Given the description of an element on the screen output the (x, y) to click on. 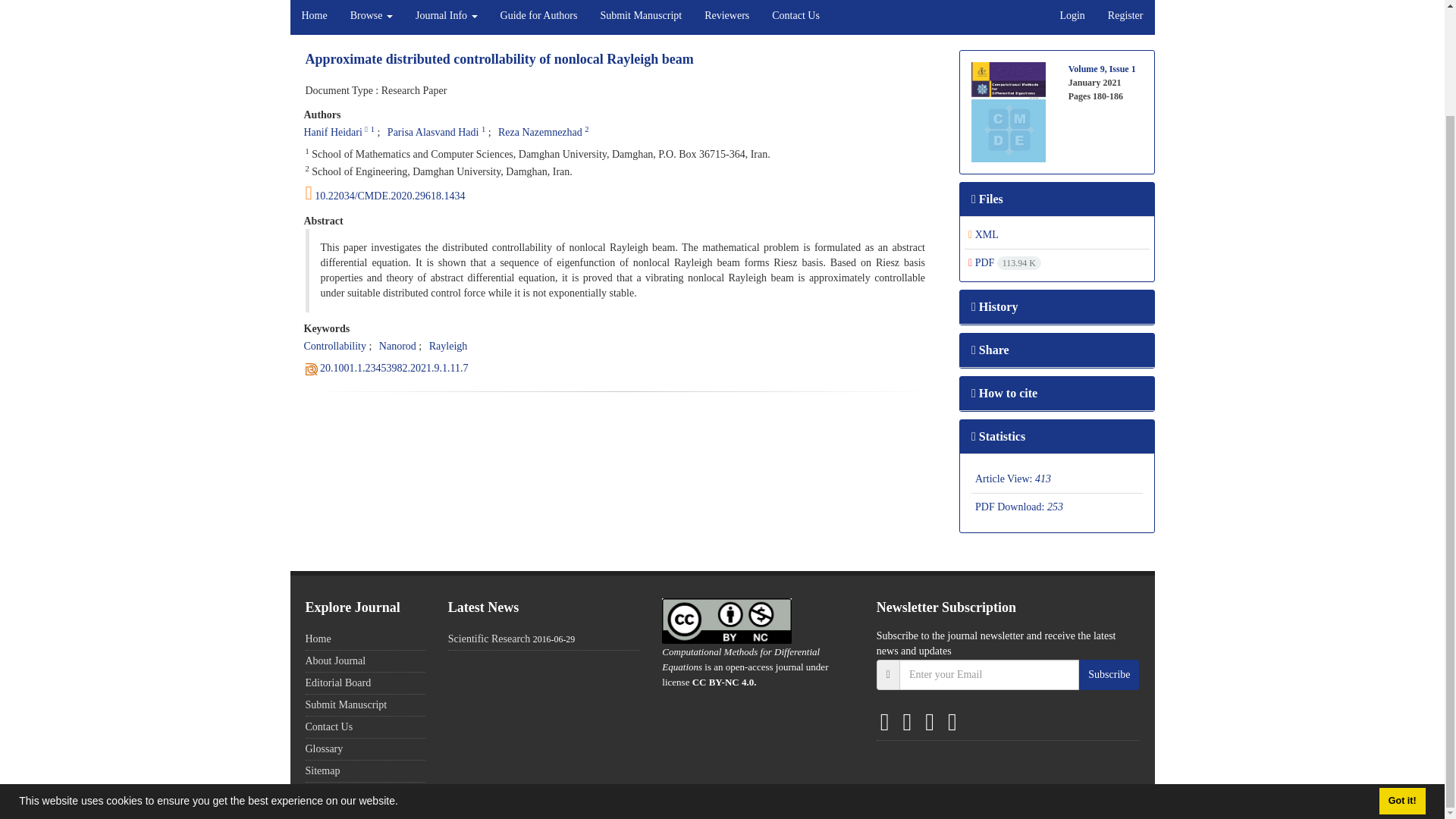
Submit Manuscript (640, 17)
Hanif Heidari (331, 132)
20.1001.1.23453982.2021.9.1.11.7 (393, 367)
DOR (393, 367)
Home (313, 17)
Reviewers (726, 17)
Contact Us (795, 17)
Login (1072, 17)
Controllability (333, 346)
Parisa Alasvand Hadi (433, 132)
Journal Info (446, 17)
Browse (371, 17)
Guide for Authors (539, 17)
Register (1125, 17)
